Given the description of an element on the screen output the (x, y) to click on. 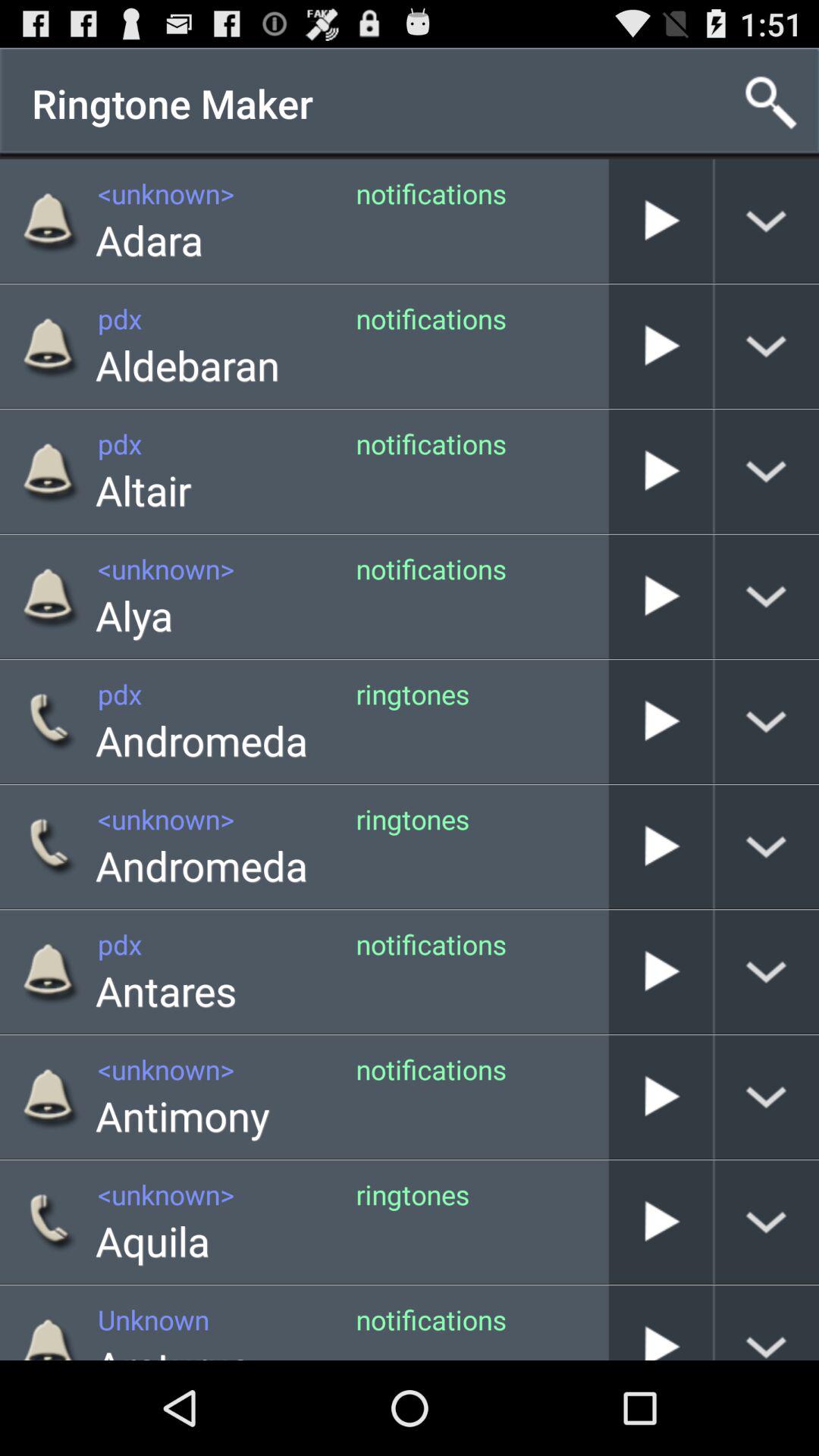
turn off the app to the right of notifications app (608, 346)
